Given the description of an element on the screen output the (x, y) to click on. 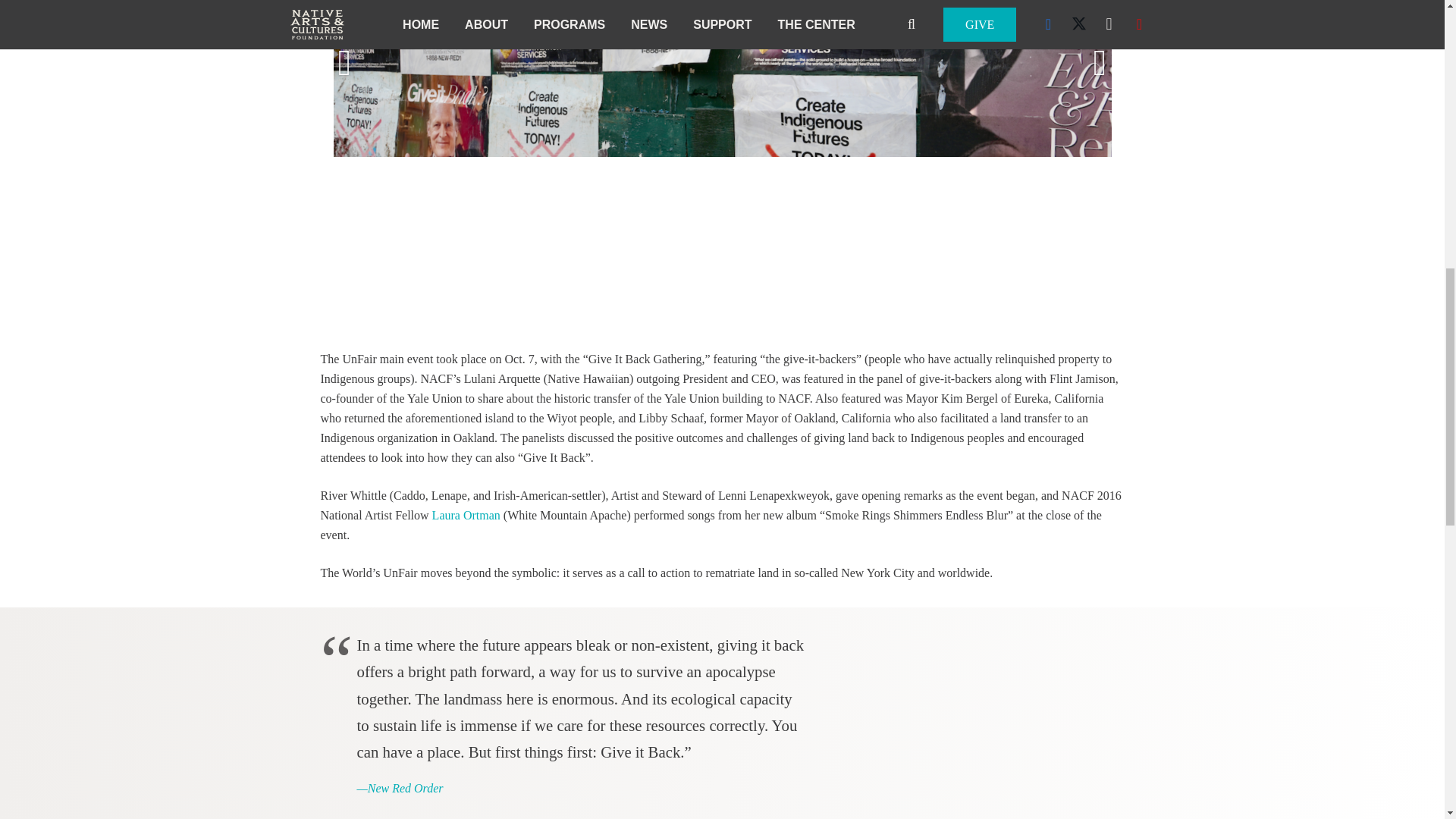
Back to top (1413, 26)
